Given the description of an element on the screen output the (x, y) to click on. 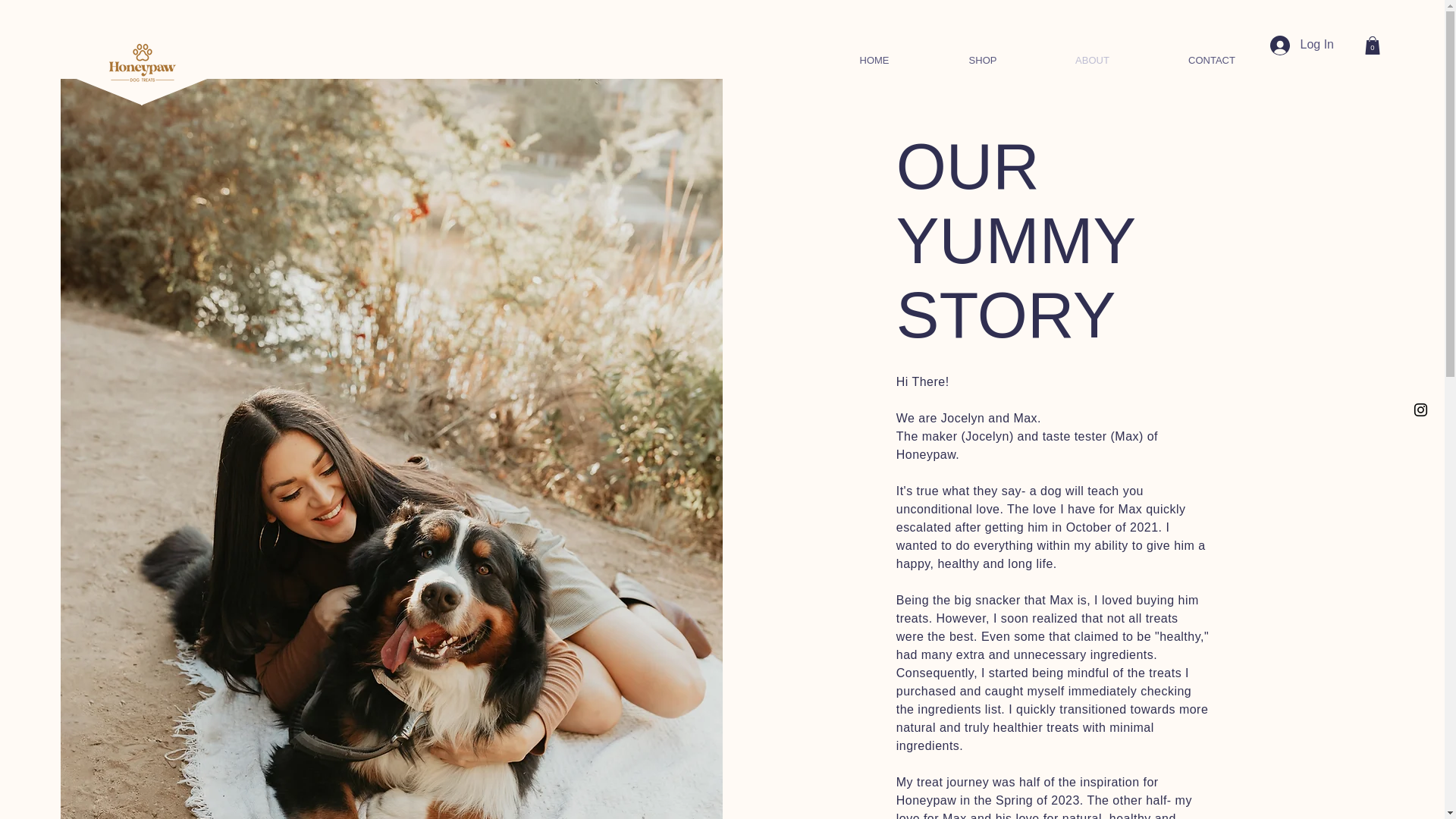
Honeypaw Main Logo 2400x1800.png (142, 62)
ABOUT (1091, 59)
CONTACT (1211, 59)
HOME (874, 59)
SHOP (982, 59)
Log In (1301, 44)
